Given the description of an element on the screen output the (x, y) to click on. 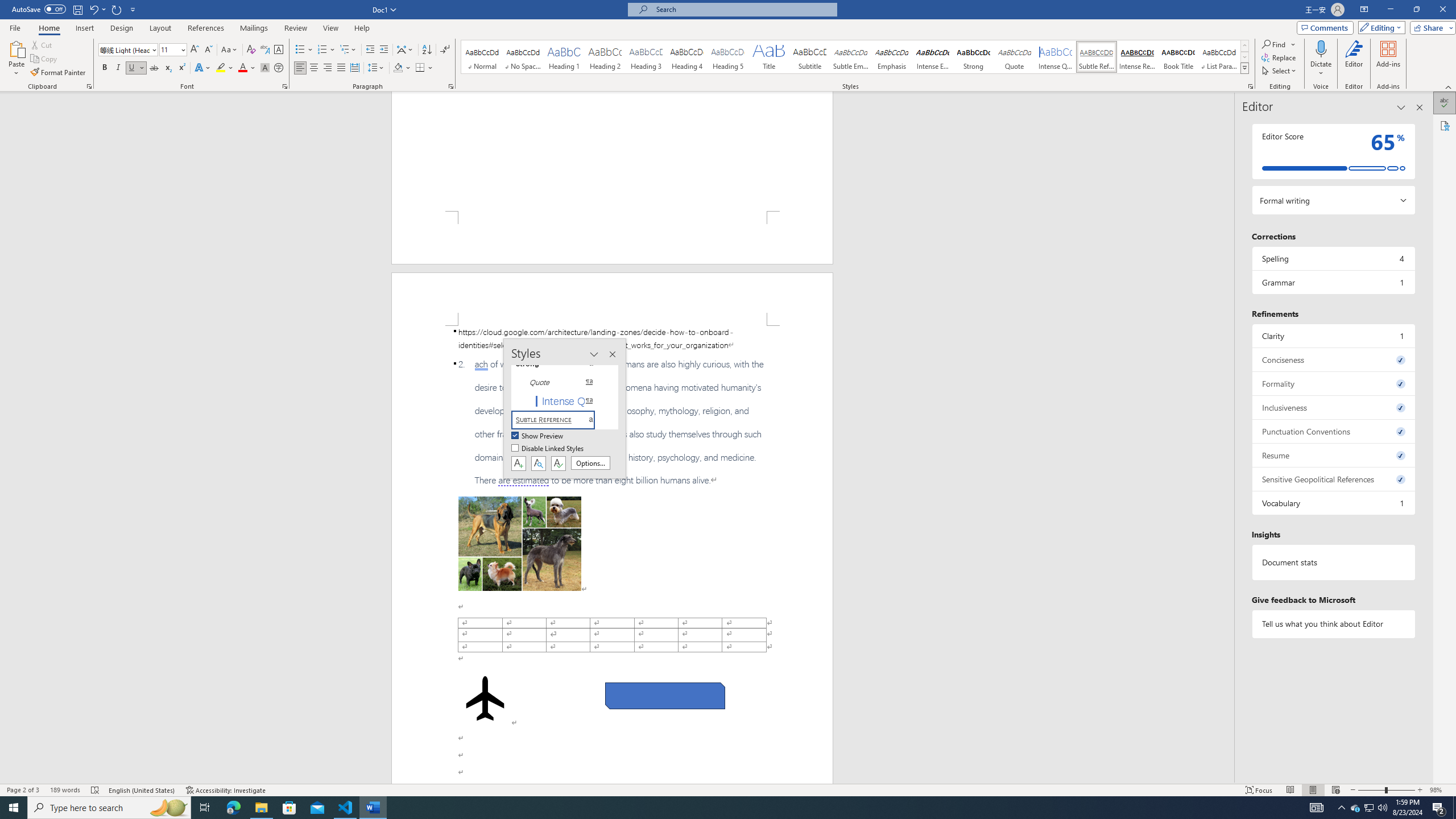
Tell us what you think about Editor (1333, 624)
Heading 4 (686, 56)
Show Preview (537, 436)
